Given the description of an element on the screen output the (x, y) to click on. 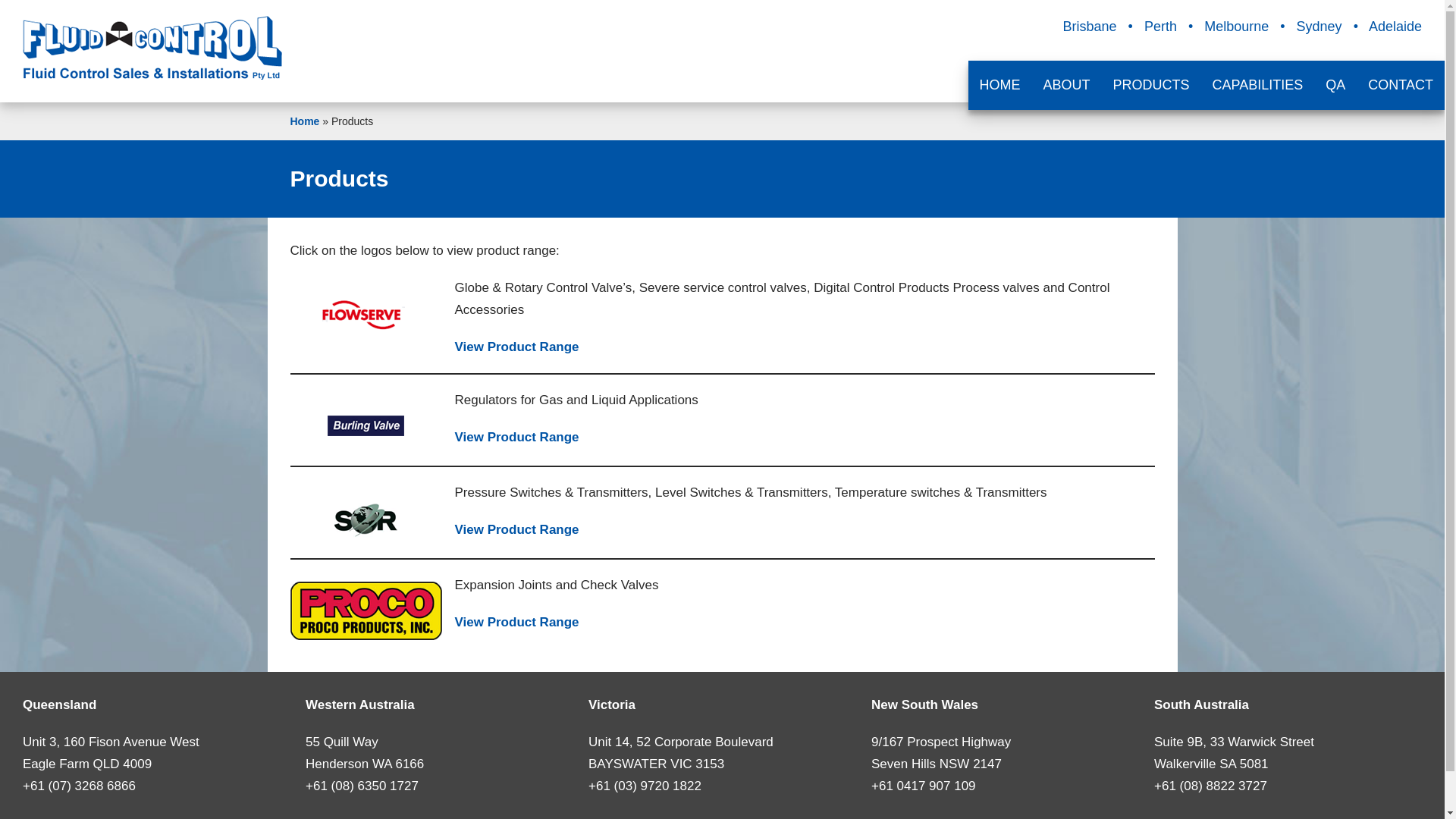
View Product Range Element type: text (517, 622)
QA Element type: text (1335, 84)
View Product Range Element type: text (517, 436)
CAPABILITIES Element type: text (1257, 84)
PRODUCTS Element type: text (1151, 84)
View Product Range Element type: text (517, 529)
CONTACT Element type: text (1400, 84)
Home Element type: text (304, 121)
HOME Element type: text (1000, 84)
View Product Range Element type: text (517, 346)
ABOUT Element type: text (1066, 84)
